Given the description of an element on the screen output the (x, y) to click on. 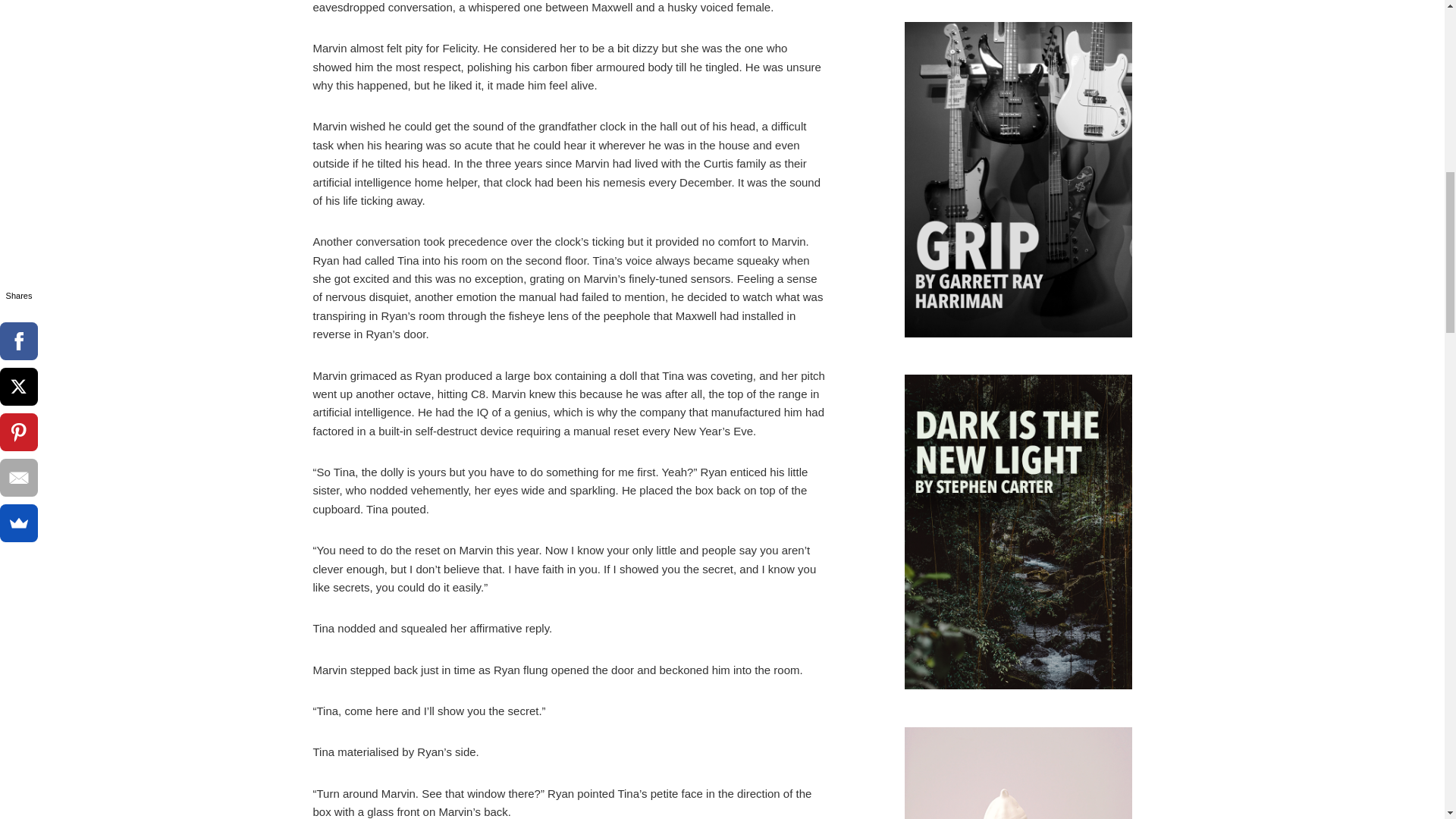
The Ides of Mulch (1017, 773)
